Given the description of an element on the screen output the (x, y) to click on. 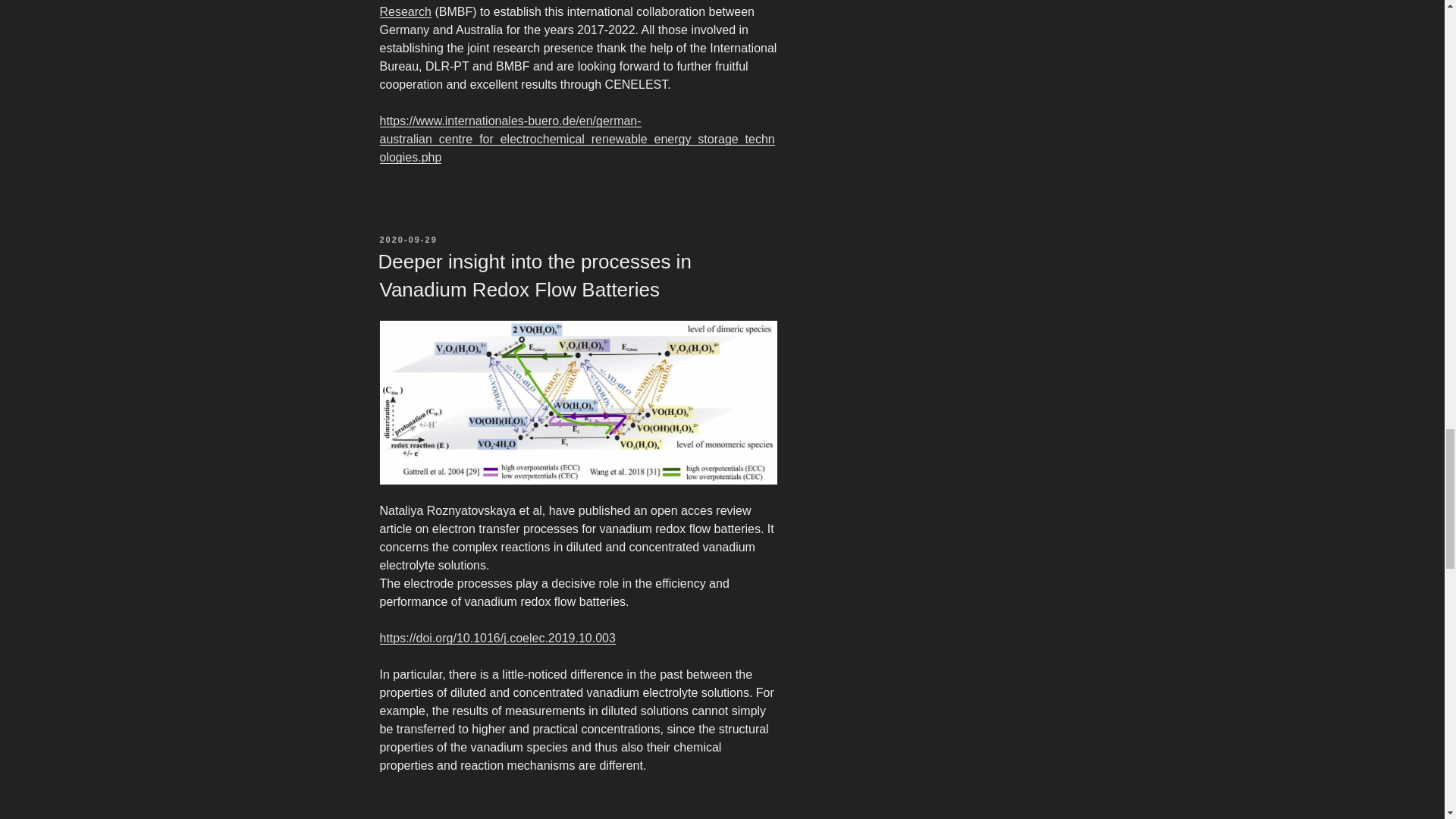
German Ministry for Education and Research (550, 9)
2020-09-29 (407, 239)
